Given the description of an element on the screen output the (x, y) to click on. 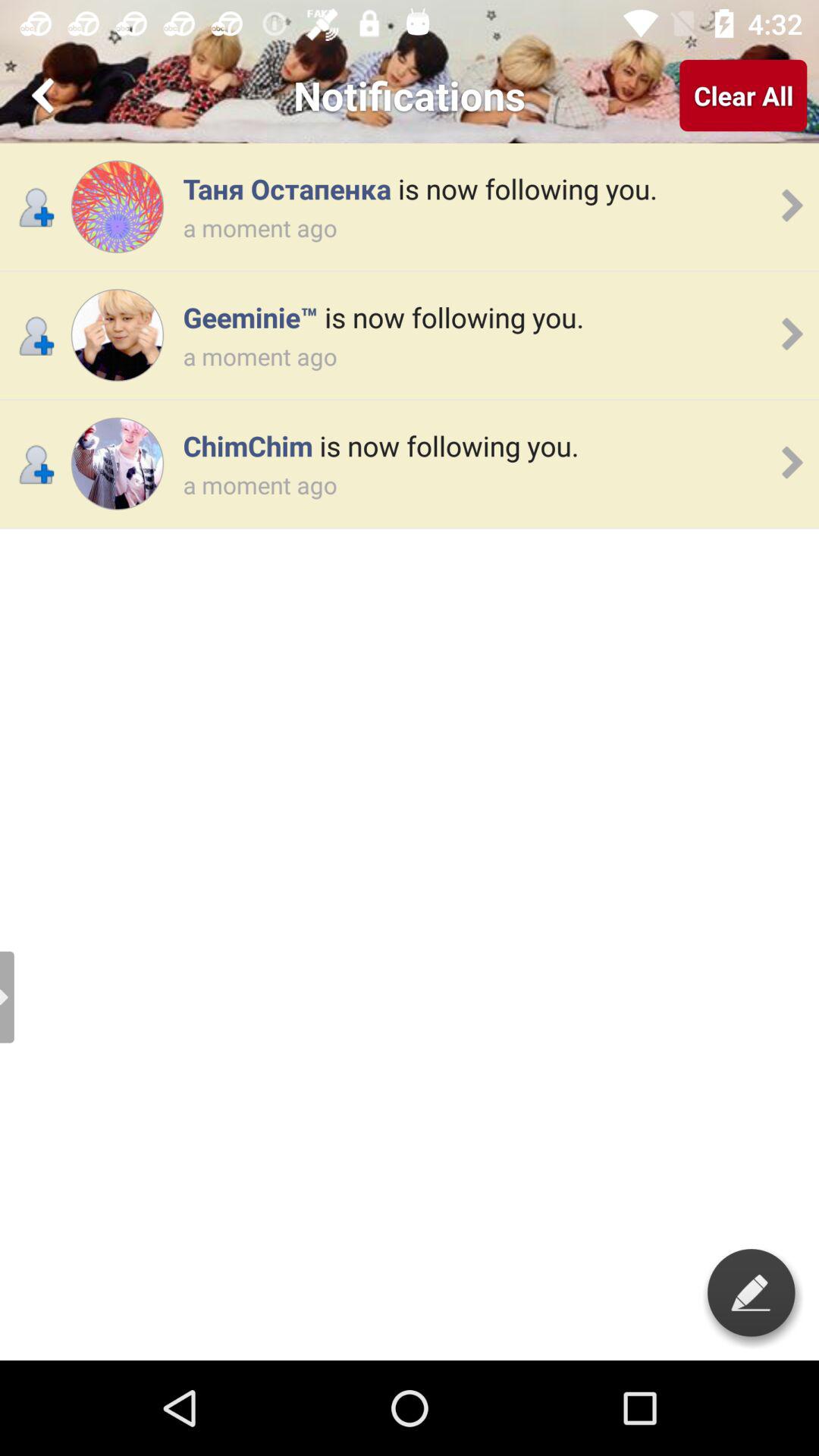
profile of a person (117, 463)
